Given the description of an element on the screen output the (x, y) to click on. 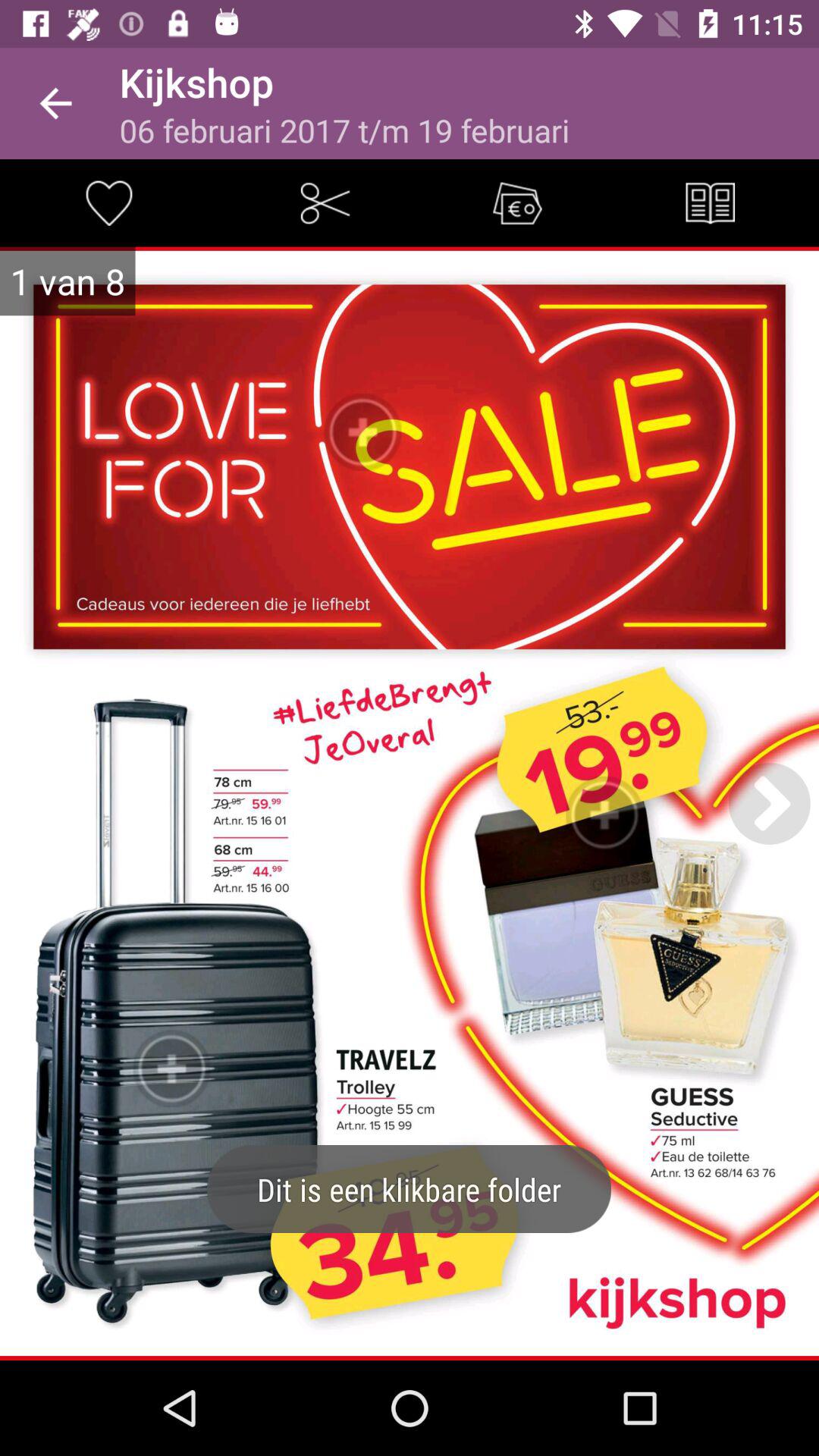
tap the icon below 06 februari 2017 (517, 202)
